Given the description of an element on the screen output the (x, y) to click on. 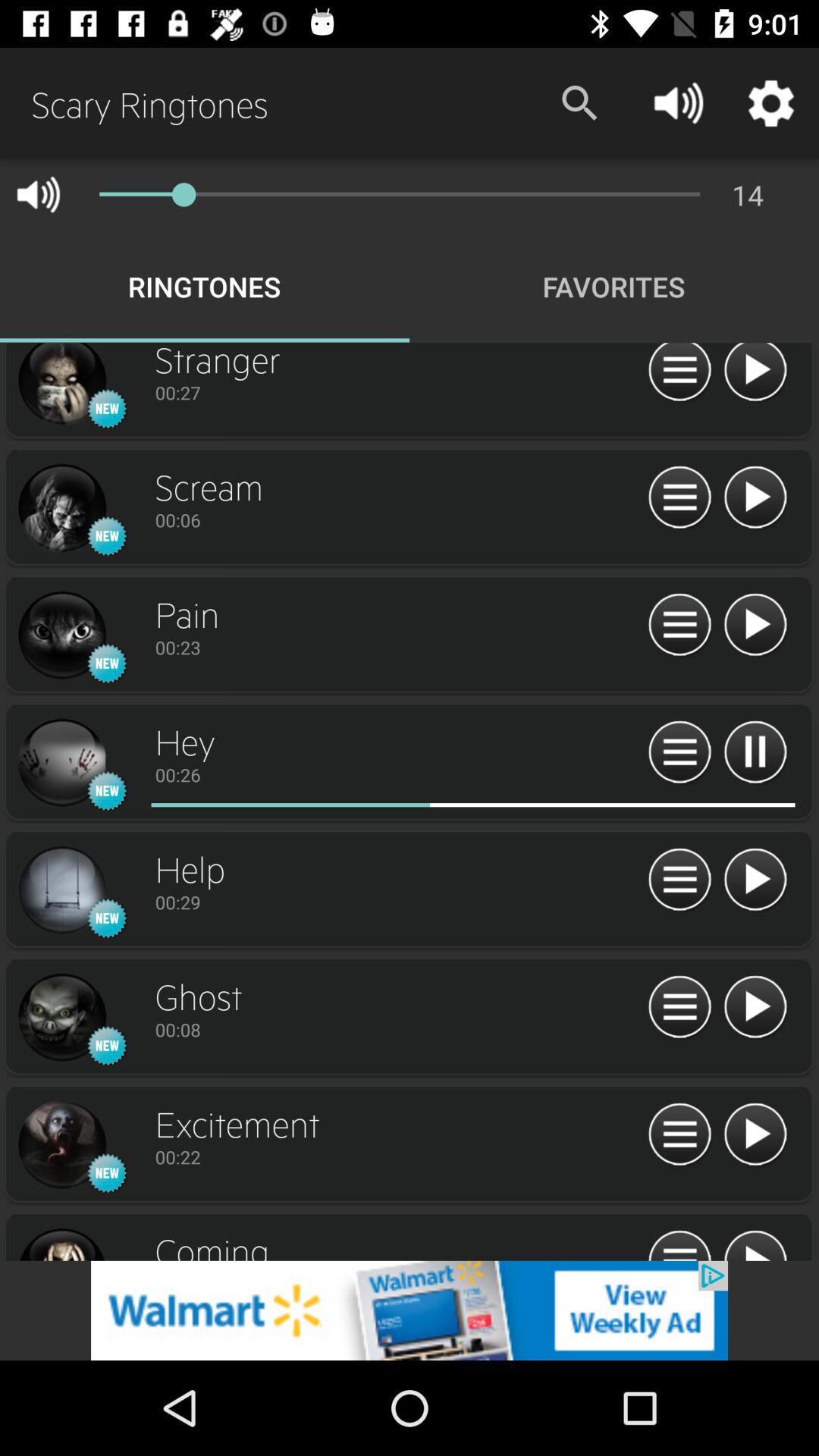
go to playe (755, 625)
